Given the description of an element on the screen output the (x, y) to click on. 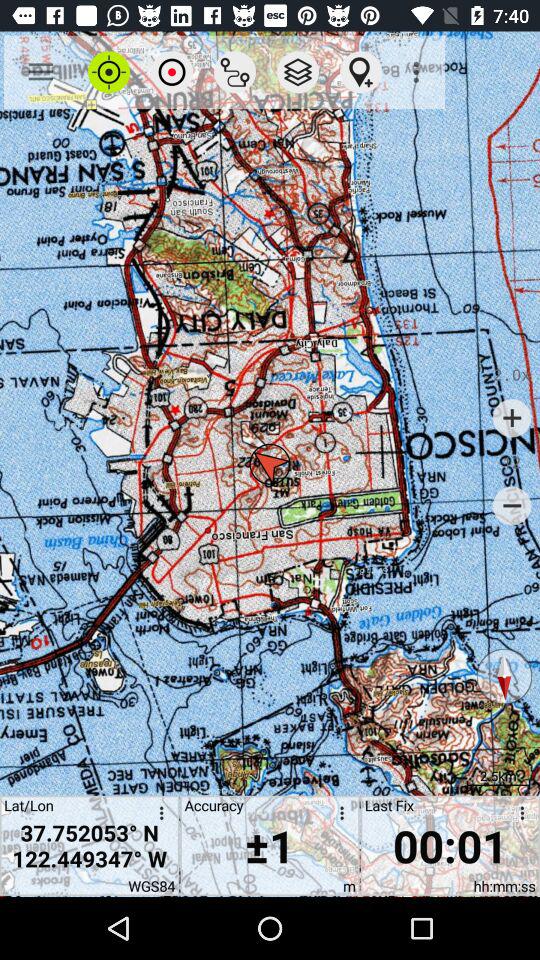
drop down for options (519, 816)
